Given the description of an element on the screen output the (x, y) to click on. 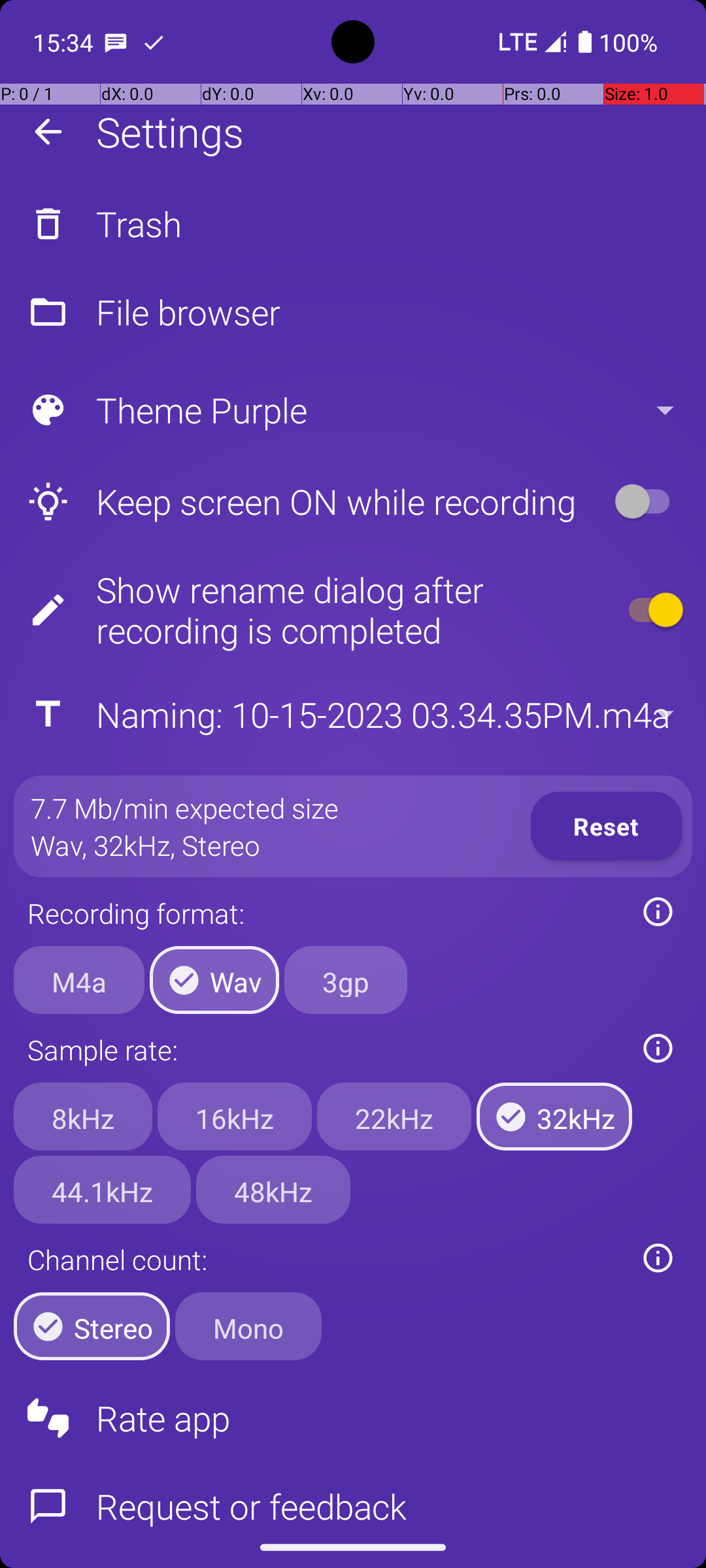
File browser Element type: android.widget.TextView (353, 311)
Keep screen ON while recording Element type: android.widget.TextView (304, 501)
Show rename dialog after recording is completed Element type: android.widget.TextView (304, 609)
7.7 Mb/min expected size Element type: android.widget.TextView (184, 807)
Wav, 32kHz, Stereo Element type: android.widget.TextView (145, 844)
Rate app Element type: android.widget.TextView (353, 1417)
Request or feedback Element type: android.widget.TextView (353, 1494)
Theme Purple Element type: android.widget.TextView (352, 409)
Naming: 10-15-2023 03.34.35PM.m4a Element type: android.widget.TextView (352, 714)
SMS Messenger notification: Daniel Ali Element type: android.widget.ImageView (115, 41)
Contacts notification: Finished exporting contacts.vcf. Element type: android.widget.ImageView (153, 41)
